Given the description of an element on the screen output the (x, y) to click on. 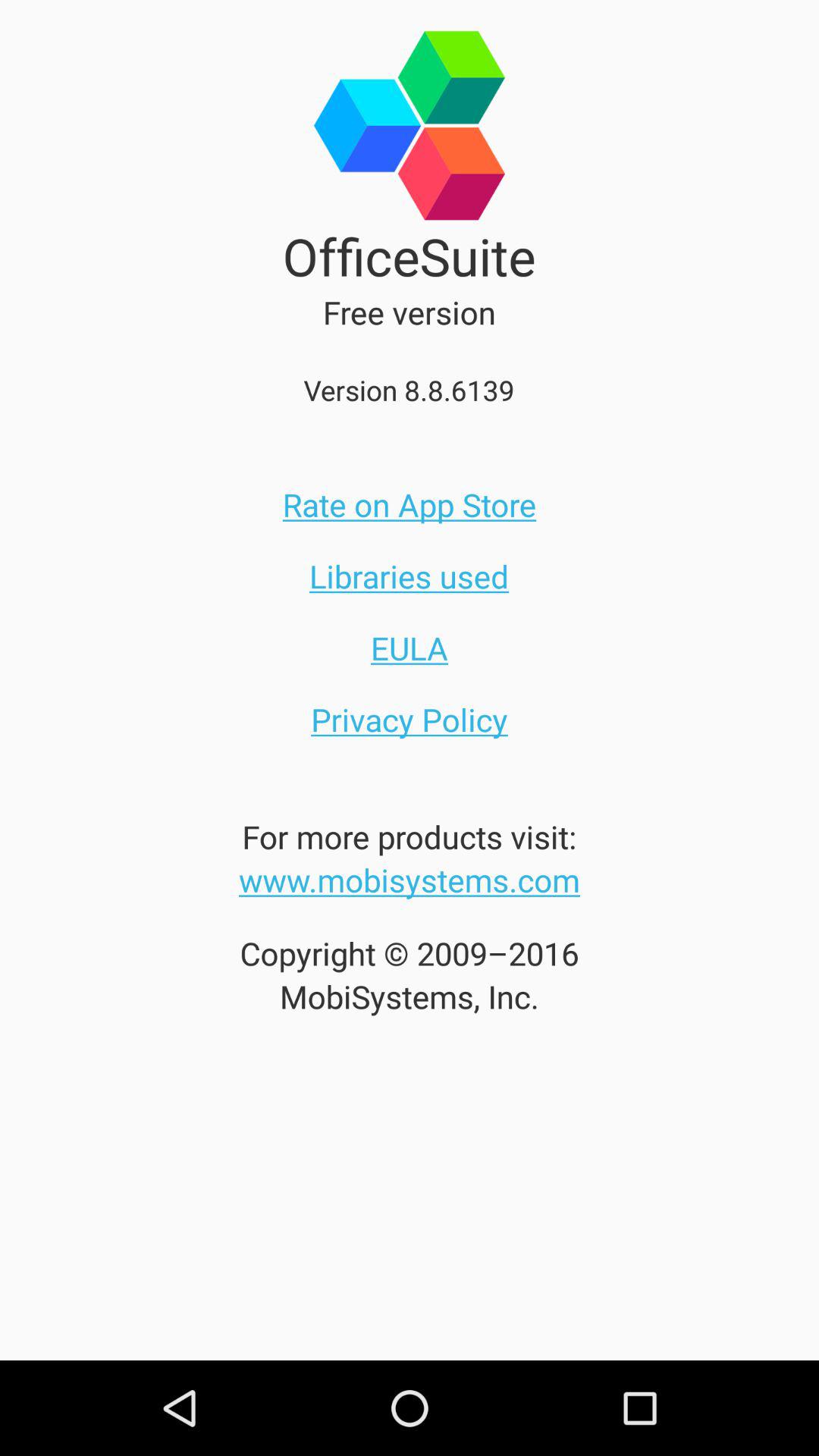
scroll to the eula icon (409, 647)
